Given the description of an element on the screen output the (x, y) to click on. 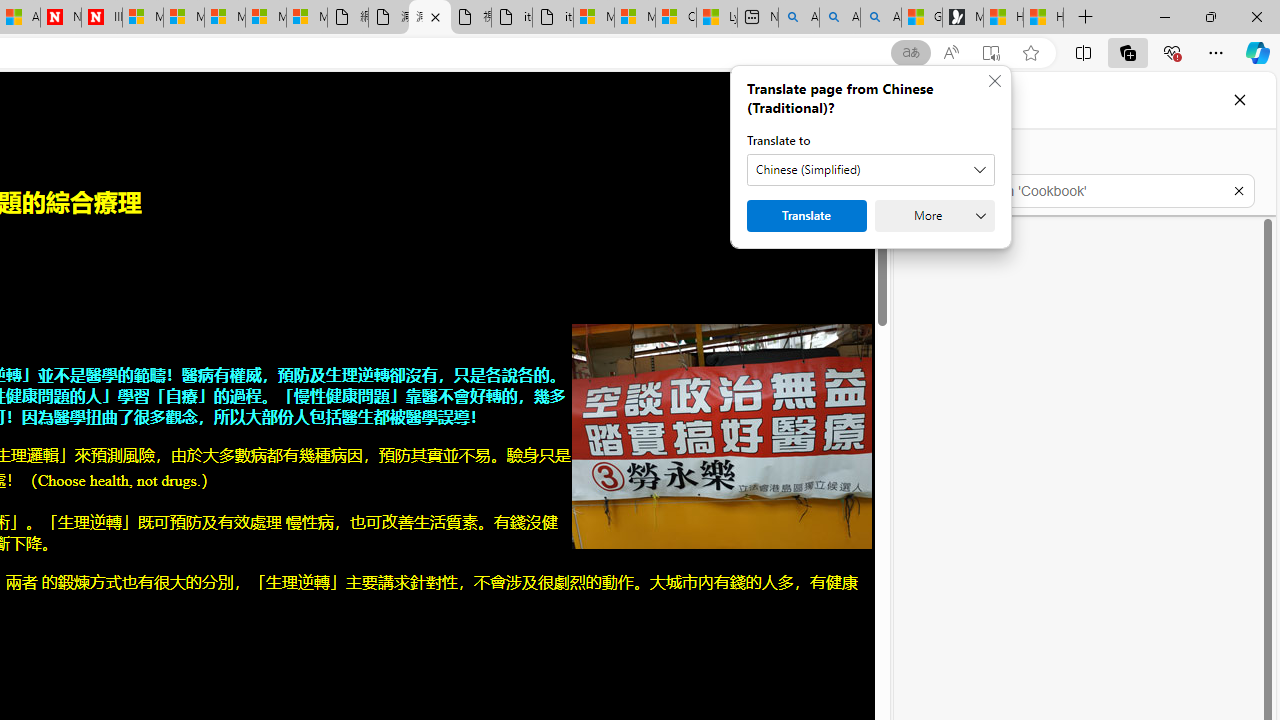
Newsweek - News, Analysis, Politics, Business, Technology (60, 17)
Search in 'Cookbook' (1084, 190)
Exit search (1238, 190)
